Given the description of an element on the screen output the (x, y) to click on. 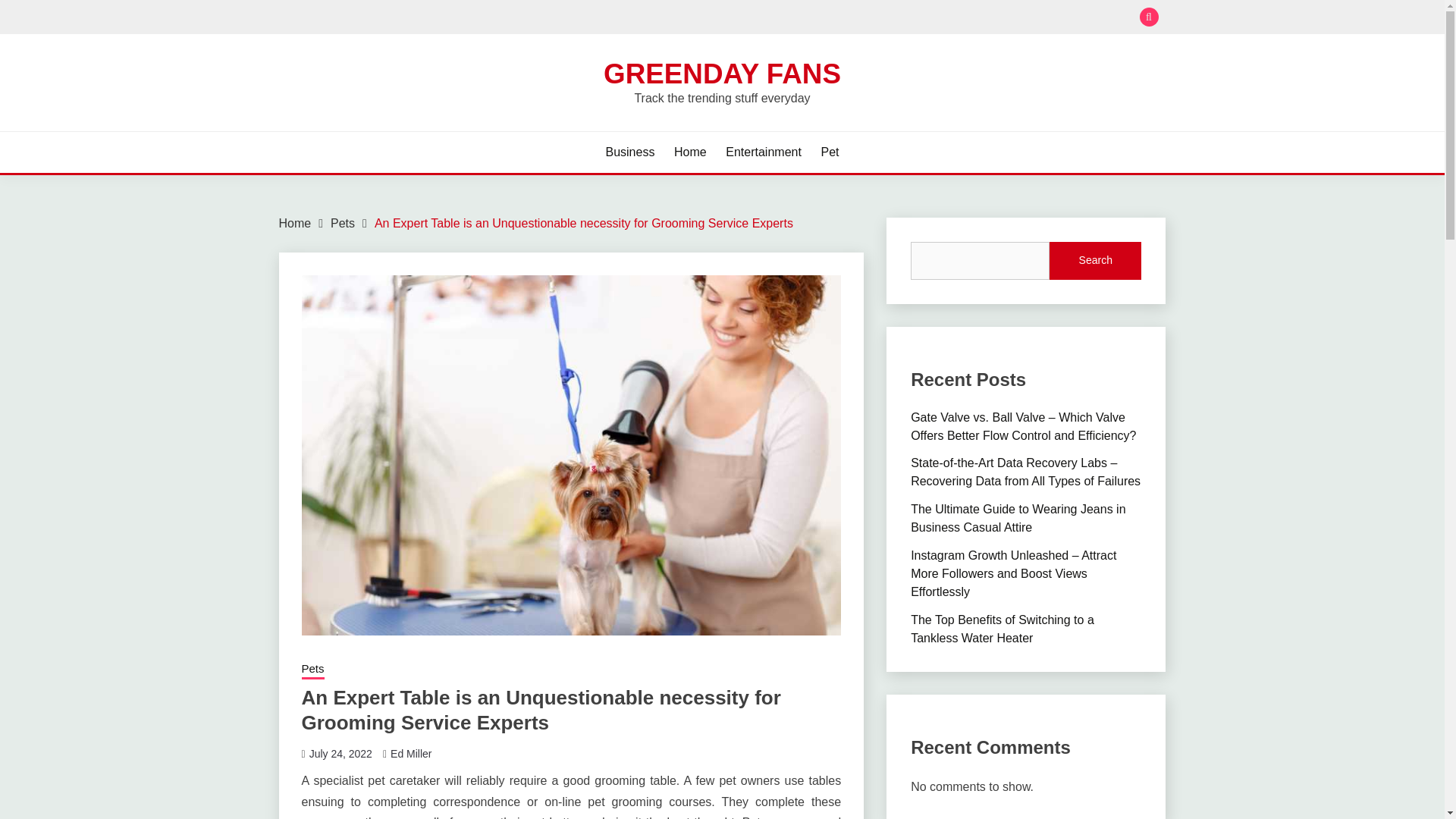
July 24, 2022 (340, 753)
Home (690, 152)
GREENDAY FANS (722, 73)
Pets (312, 670)
Search (1095, 260)
Pets (342, 223)
Pet (829, 152)
The Top Benefits of Switching to a Tankless Water Heater (1002, 628)
Business (629, 152)
